Given the description of an element on the screen output the (x, y) to click on. 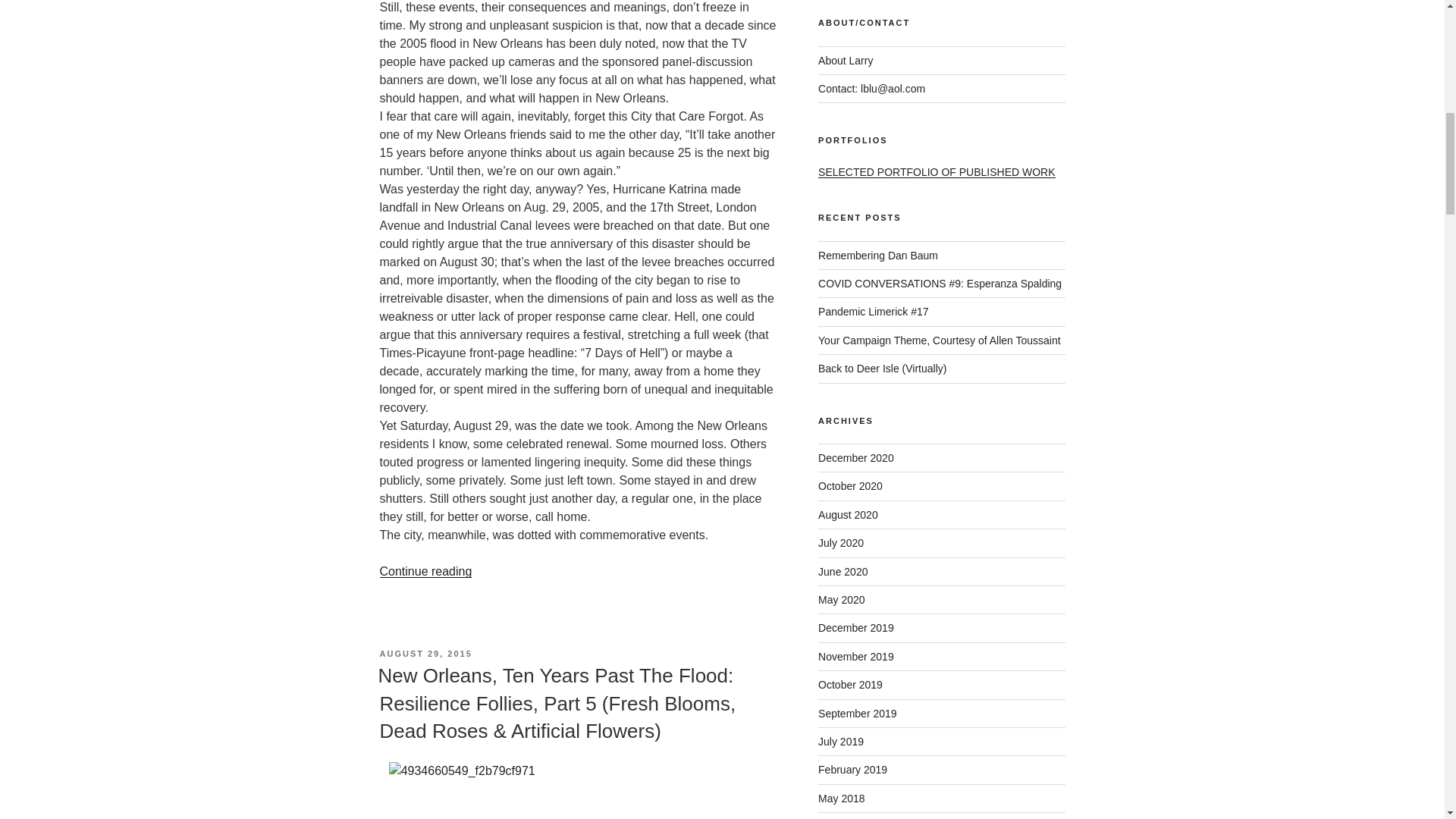
SELECTED PORTFOLIO OF PUBLISHED WORK (936, 172)
About Larry (845, 60)
Remembering Dan Baum (877, 255)
AUGUST 29, 2015 (424, 653)
Your Campaign Theme, Courtesy of Allen Toussaint (939, 340)
